Given the description of an element on the screen output the (x, y) to click on. 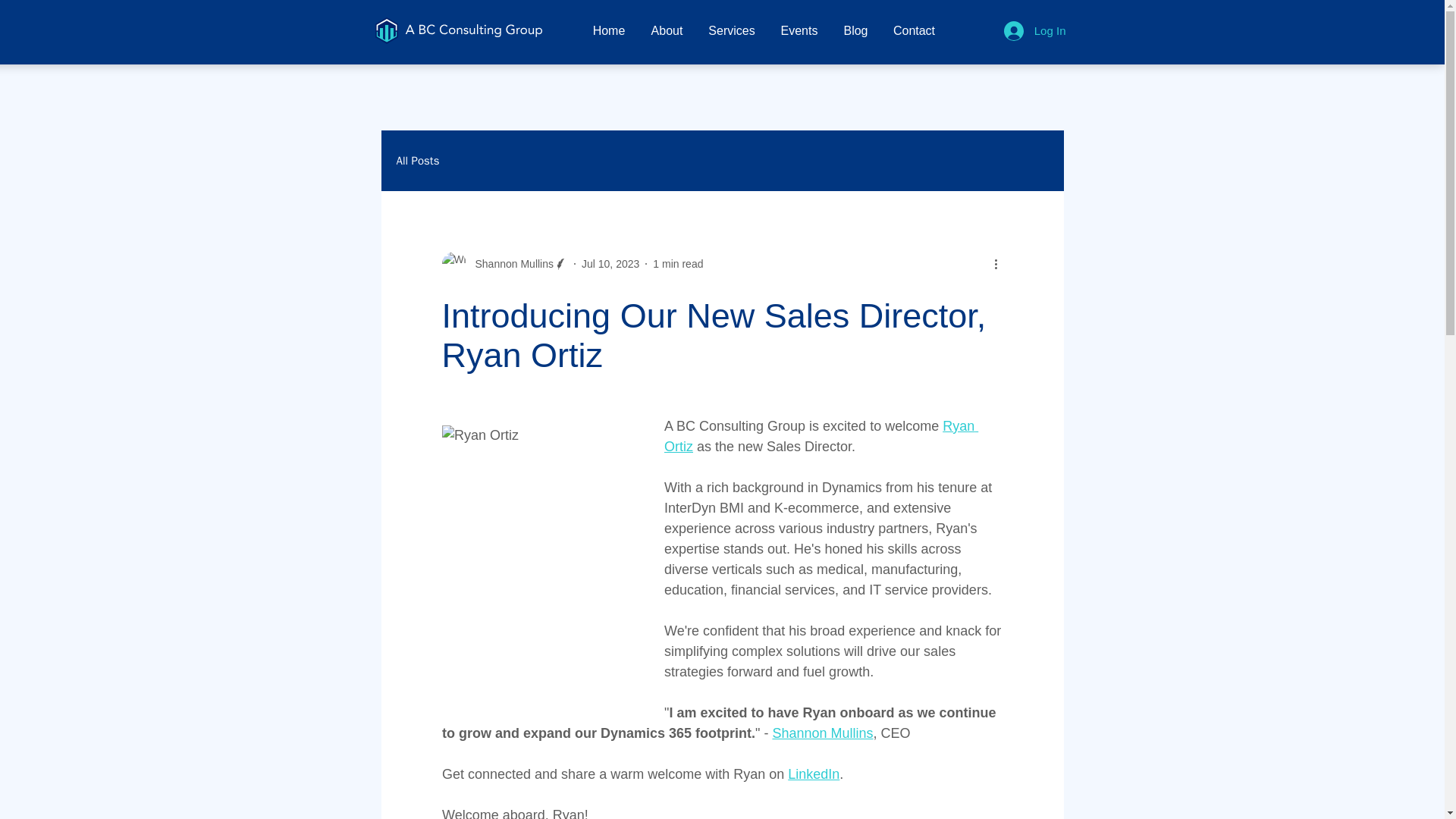
About (667, 30)
Shannon Mullins (509, 263)
Jul 10, 2023 (609, 263)
Contact (913, 30)
Log In (1034, 30)
LinkedIn (813, 774)
Events (798, 30)
Home (608, 30)
1 min read (677, 263)
Ryan Ortiz (820, 436)
Shannon Mullins (504, 263)
Shannon Mullins (821, 733)
All Posts (417, 160)
